Given the description of an element on the screen output the (x, y) to click on. 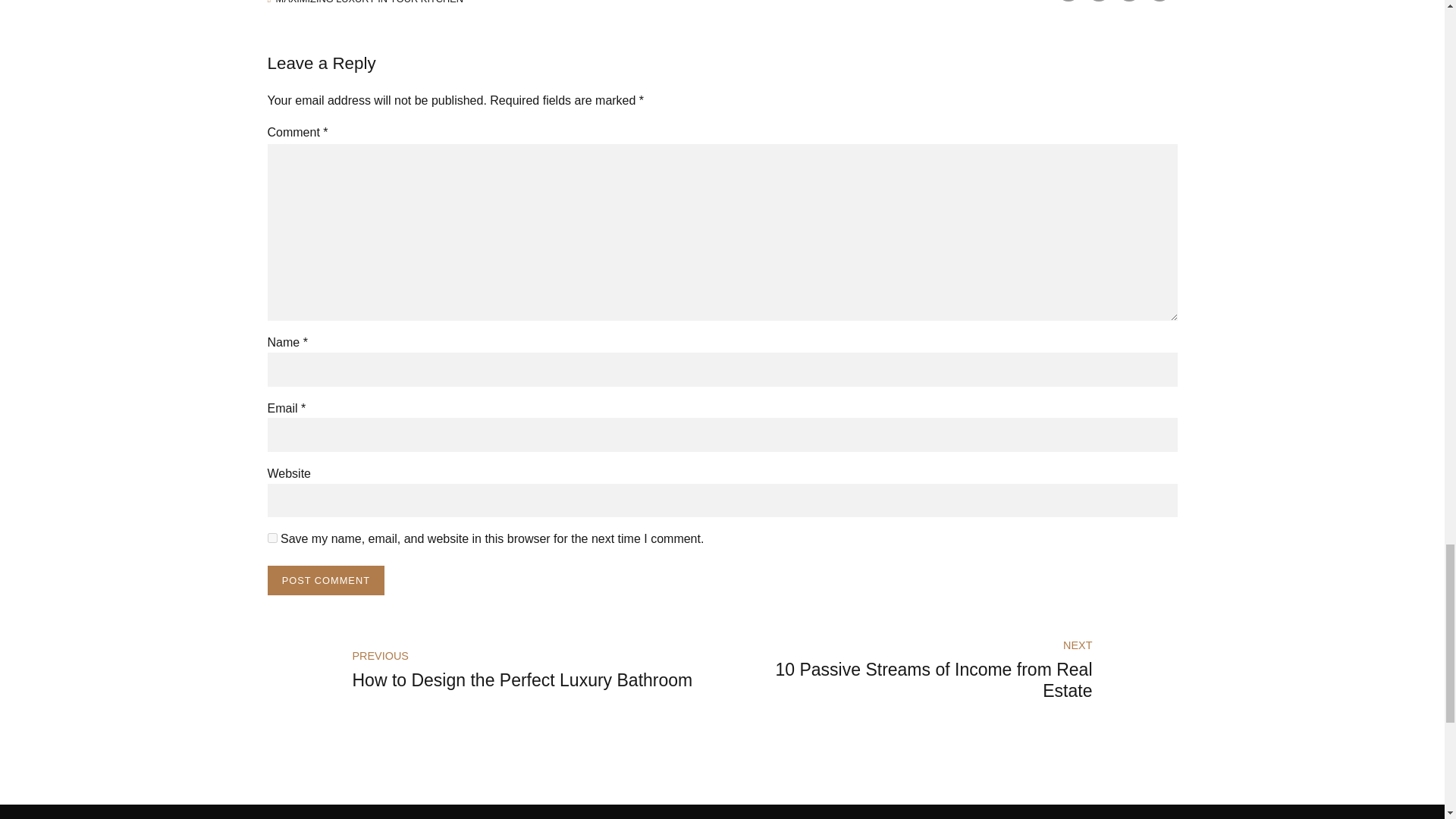
Share on Facebook (1067, 0)
Share on WhatsApp (1158, 0)
yes (271, 537)
Share on Linkedin (1128, 0)
Share on Twitter (1097, 0)
